Given the description of an element on the screen output the (x, y) to click on. 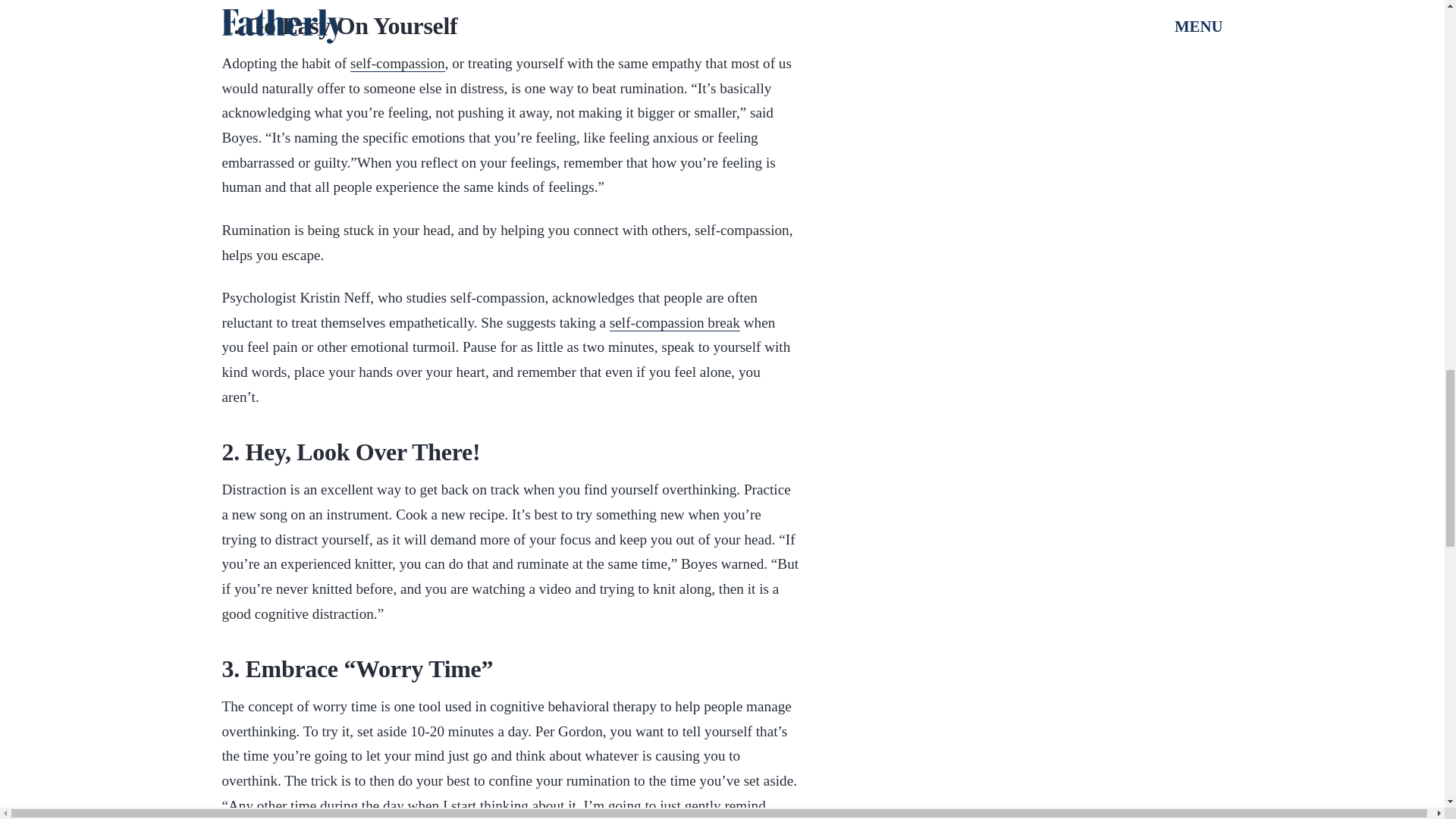
self-compassion break (674, 322)
self-compassion (397, 63)
